Given the description of an element on the screen output the (x, y) to click on. 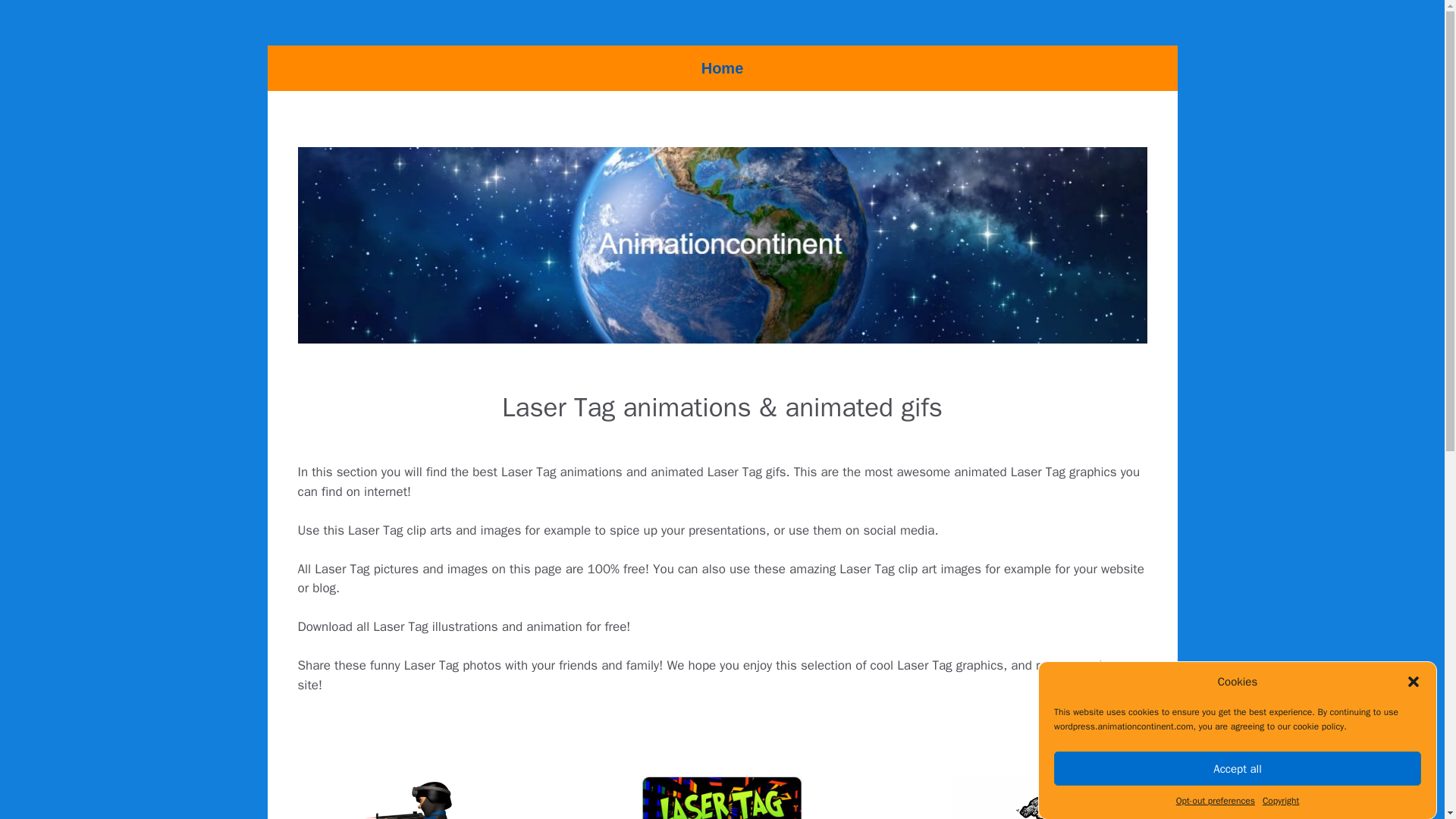
Home (721, 67)
